Given the description of an element on the screen output the (x, y) to click on. 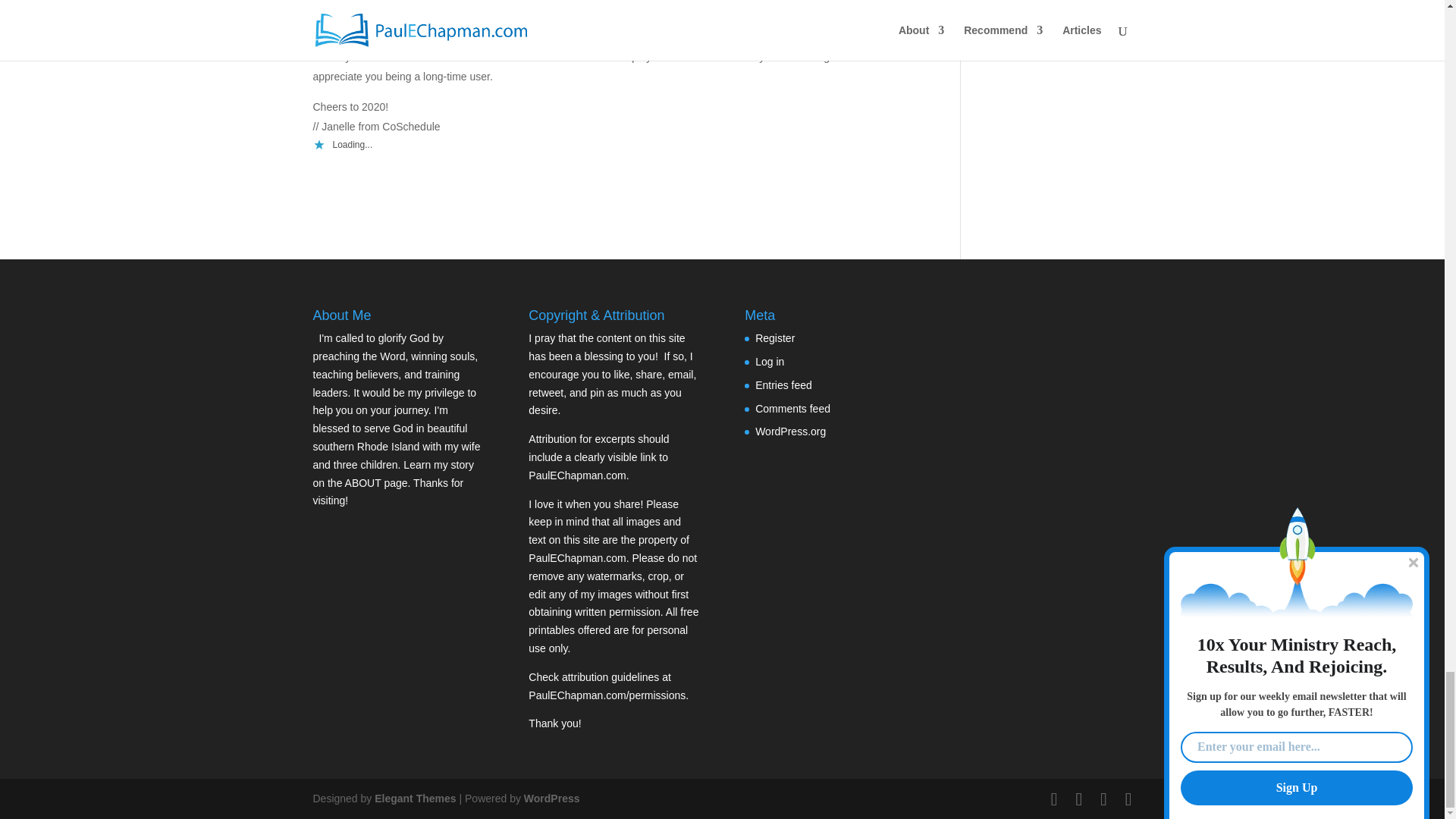
Register (774, 337)
PaulEChapman.com (577, 475)
Log in (769, 361)
Janelle from CoSchedule (371, 37)
